Given the description of an element on the screen output the (x, y) to click on. 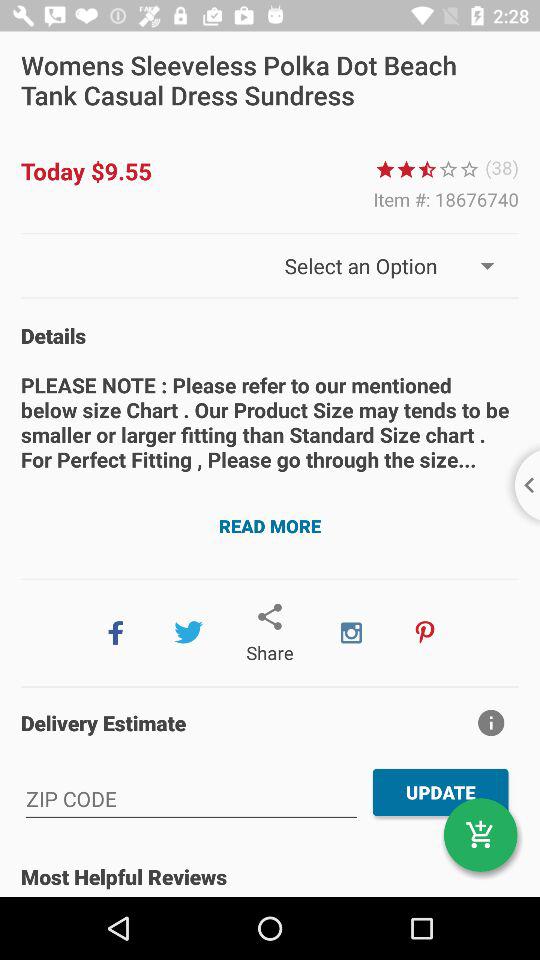
click on update (441, 792)
click the read more button (270, 526)
select the text immediate below stars (446, 199)
